Given the description of an element on the screen output the (x, y) to click on. 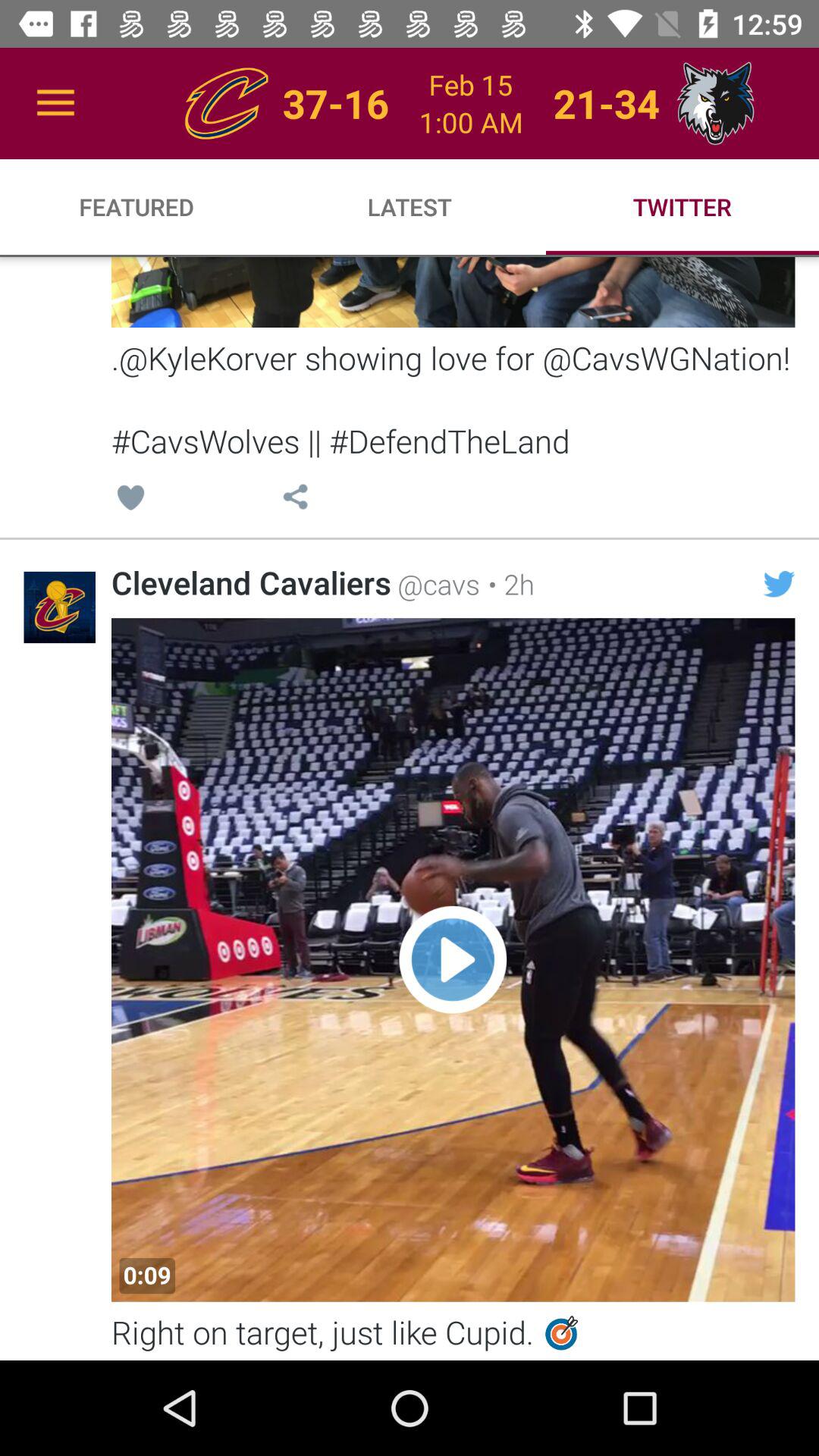
turn off 0:09 at the bottom left corner (147, 1275)
